Given the description of an element on the screen output the (x, y) to click on. 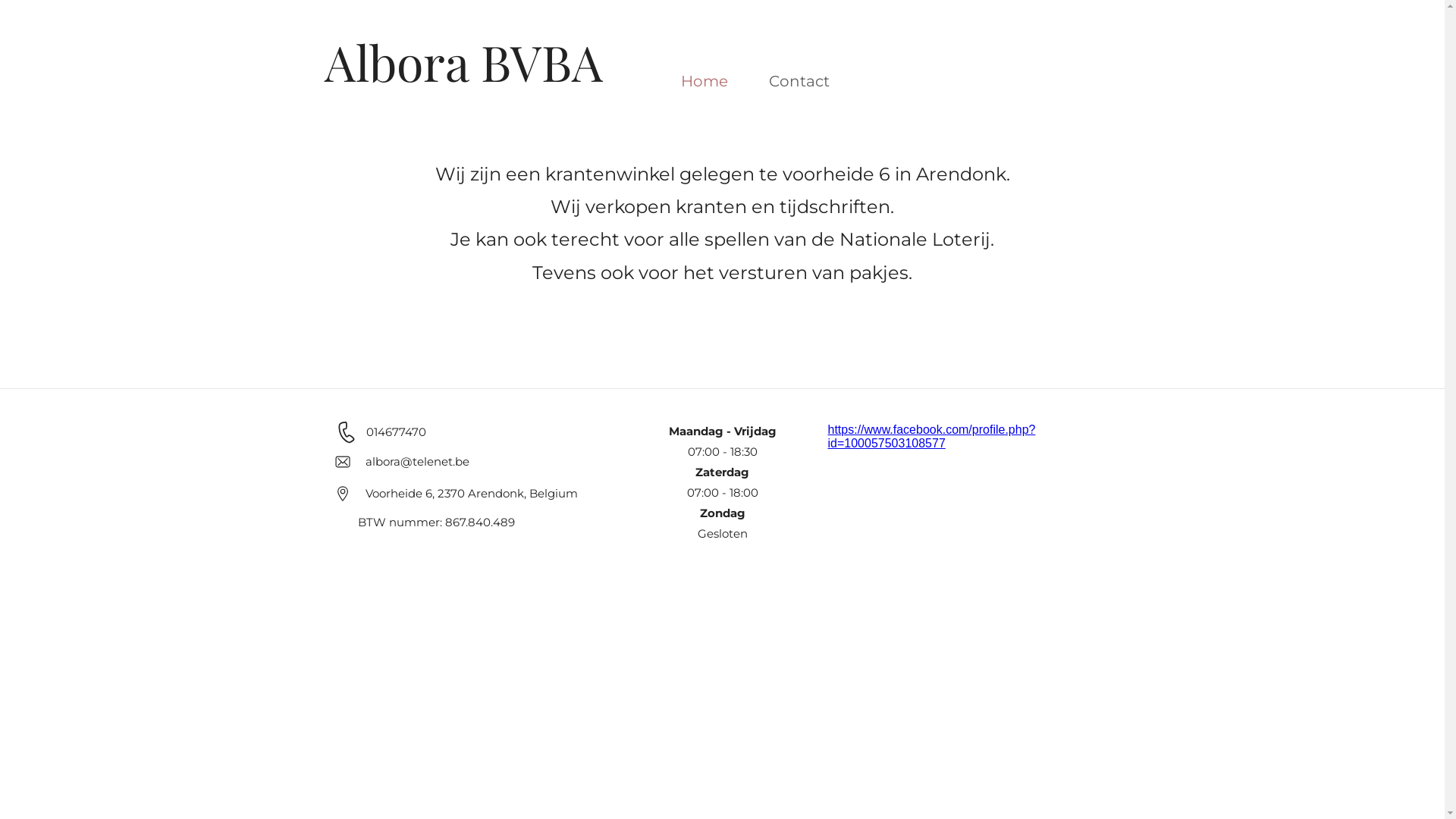
Home Element type: text (704, 80)
Voorheide 6, 2370 Arendonk, Belgium Element type: text (471, 493)
Contact Element type: text (798, 80)
https://www.facebook.com/profile.php?id=100057503108577 Element type: text (931, 436)
014677470 Element type: text (395, 431)
albora@telenet.be Element type: text (417, 461)
